Given the description of an element on the screen output the (x, y) to click on. 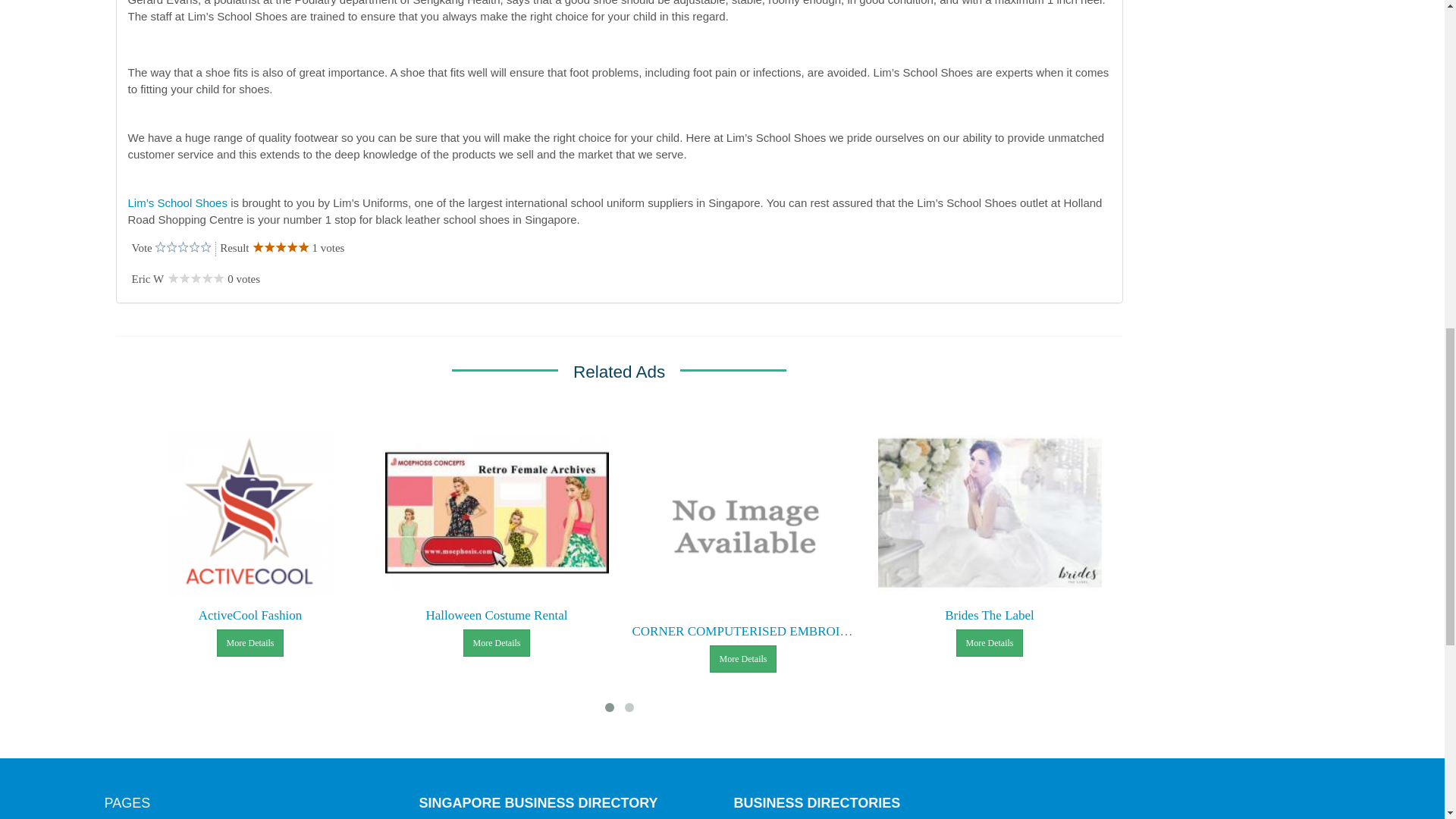
School Shoes Singapore (177, 202)
Essential (182, 247)
Very interesting (177, 247)
Interesting (171, 247)
Uninteresting (165, 247)
